Given the description of an element on the screen output the (x, y) to click on. 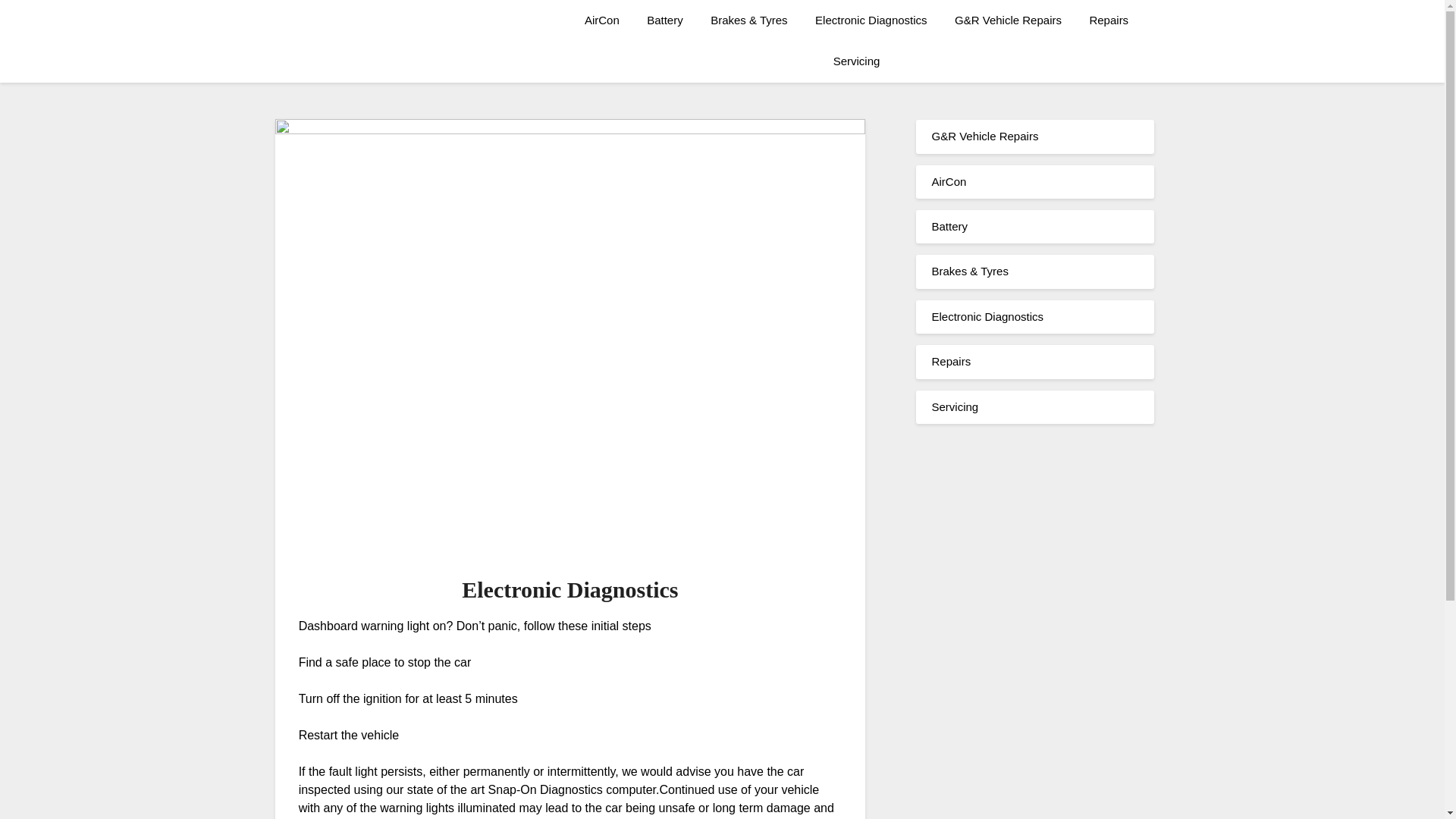
AirCon (948, 181)
Electronic Diagnostics (987, 316)
Repairs (951, 360)
Servicing (954, 406)
Battery (664, 20)
Electronic Diagnostics (871, 20)
Repairs (1108, 20)
Servicing (856, 60)
AirCon (601, 20)
Battery (949, 226)
